Given the description of an element on the screen output the (x, y) to click on. 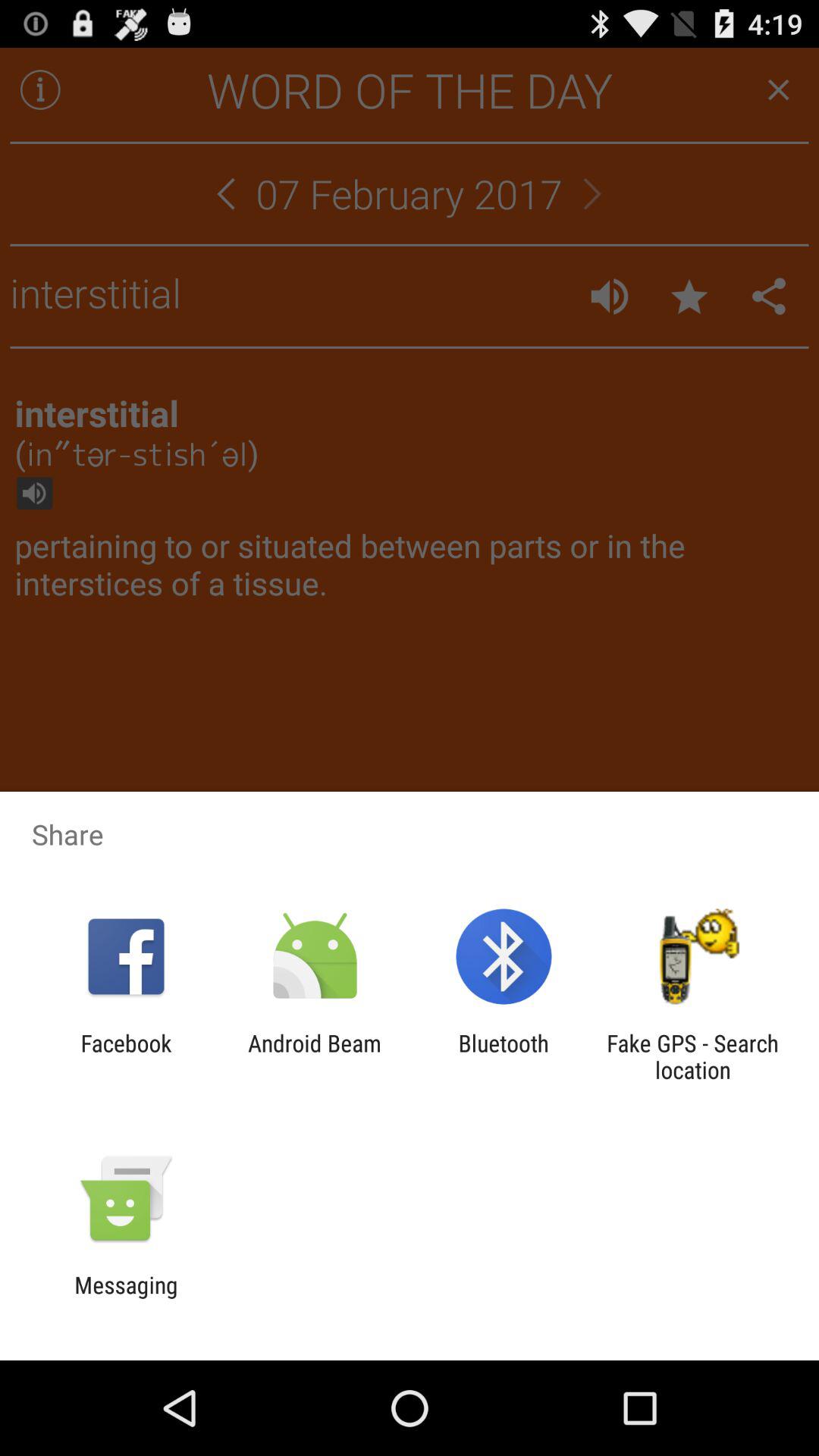
launch app to the right of the bluetooth app (692, 1056)
